Given the description of an element on the screen output the (x, y) to click on. 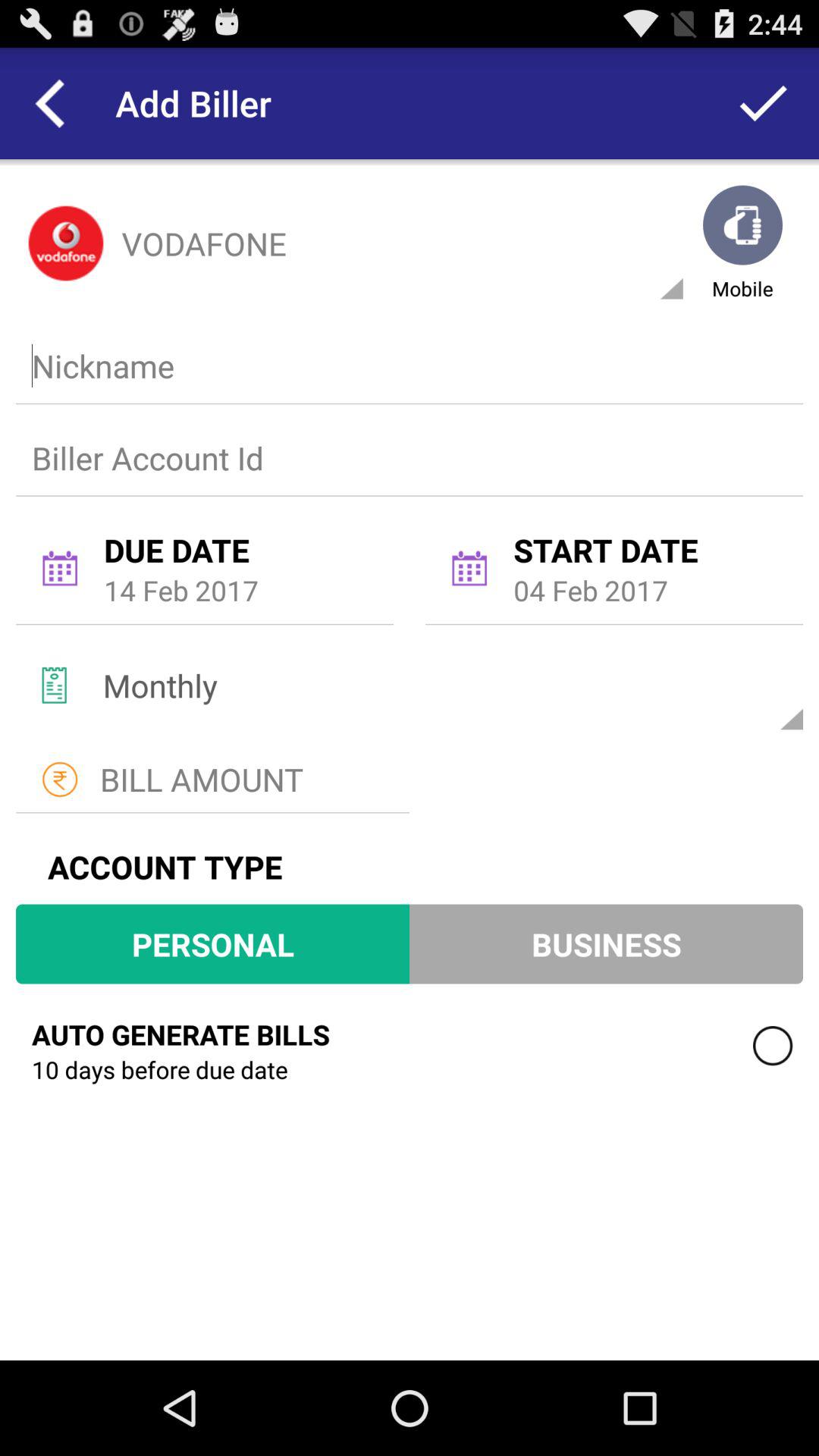
select icon above the auto generate bills app (212, 943)
